Given the description of an element on the screen output the (x, y) to click on. 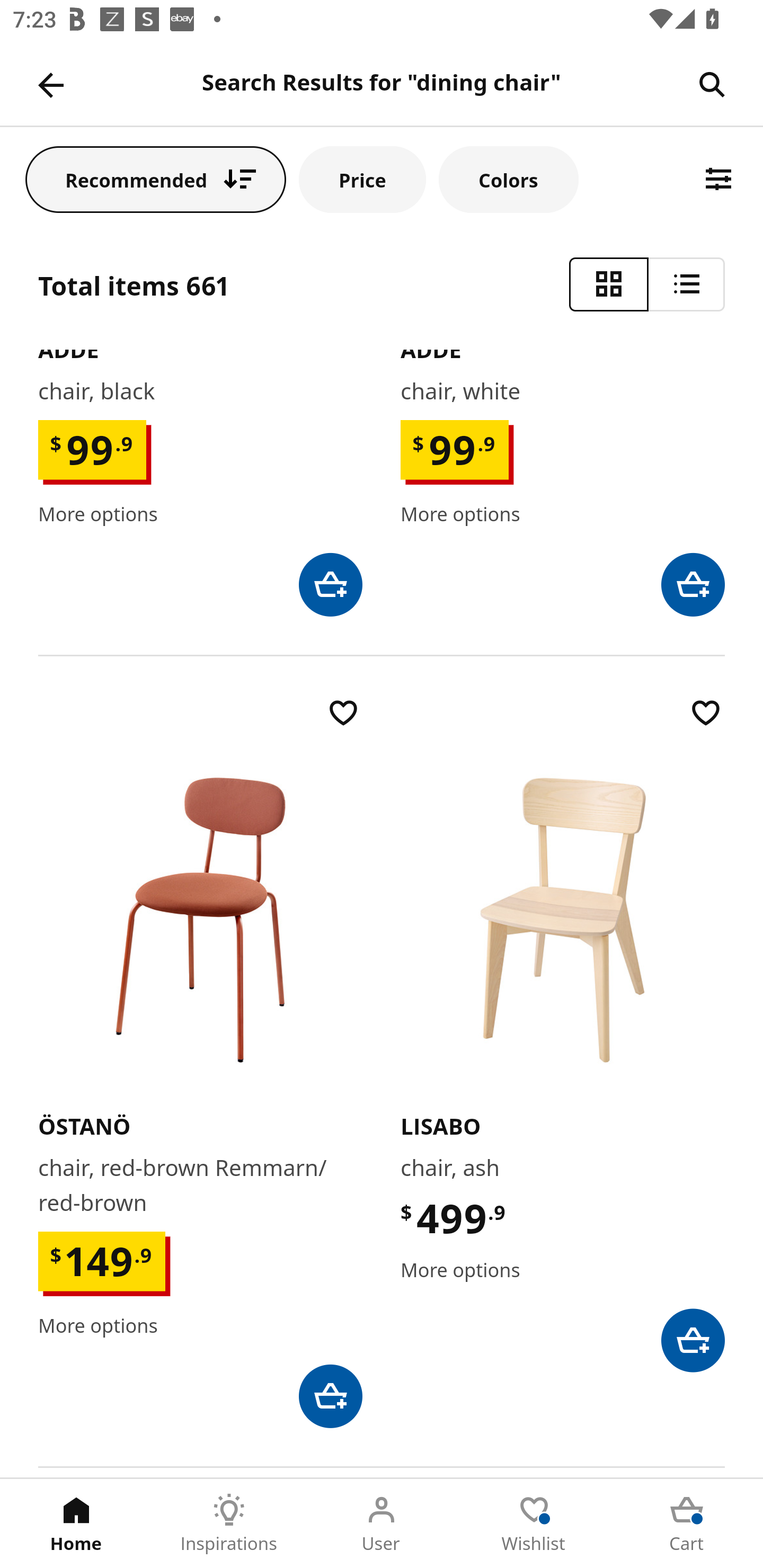
Recommended (155, 179)
Price (362, 179)
Colors (508, 179)
​L​I​S​A​B​O​
chair, ash
$
499
.9
More options (562, 1033)
Home
Tab 1 of 5 (76, 1522)
Inspirations
Tab 2 of 5 (228, 1522)
User
Tab 3 of 5 (381, 1522)
Wishlist
Tab 4 of 5 (533, 1522)
Cart
Tab 5 of 5 (686, 1522)
